Given the description of an element on the screen output the (x, y) to click on. 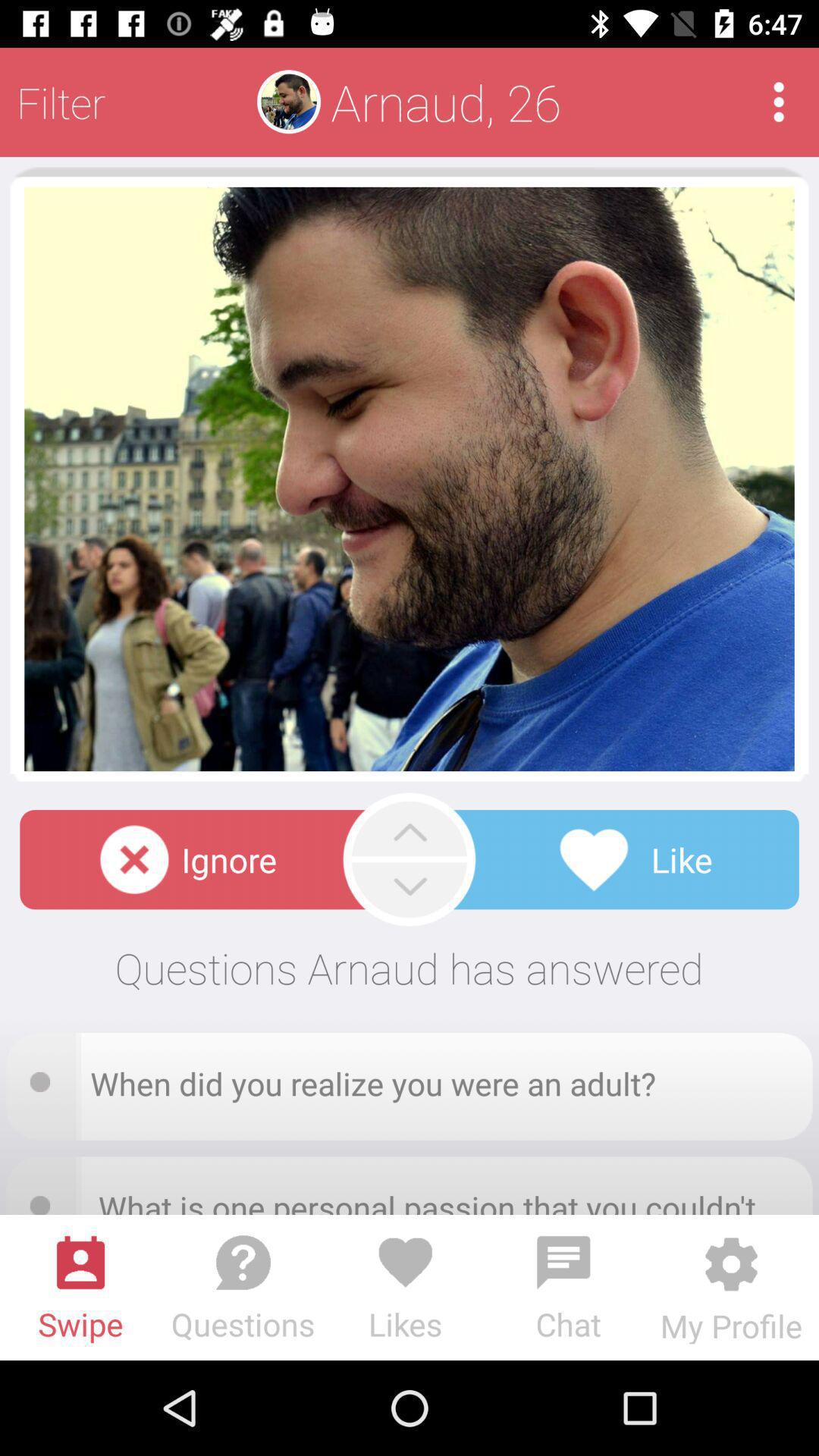
tap the item to the right of arnaud, 26 (778, 101)
